Given the description of an element on the screen output the (x, y) to click on. 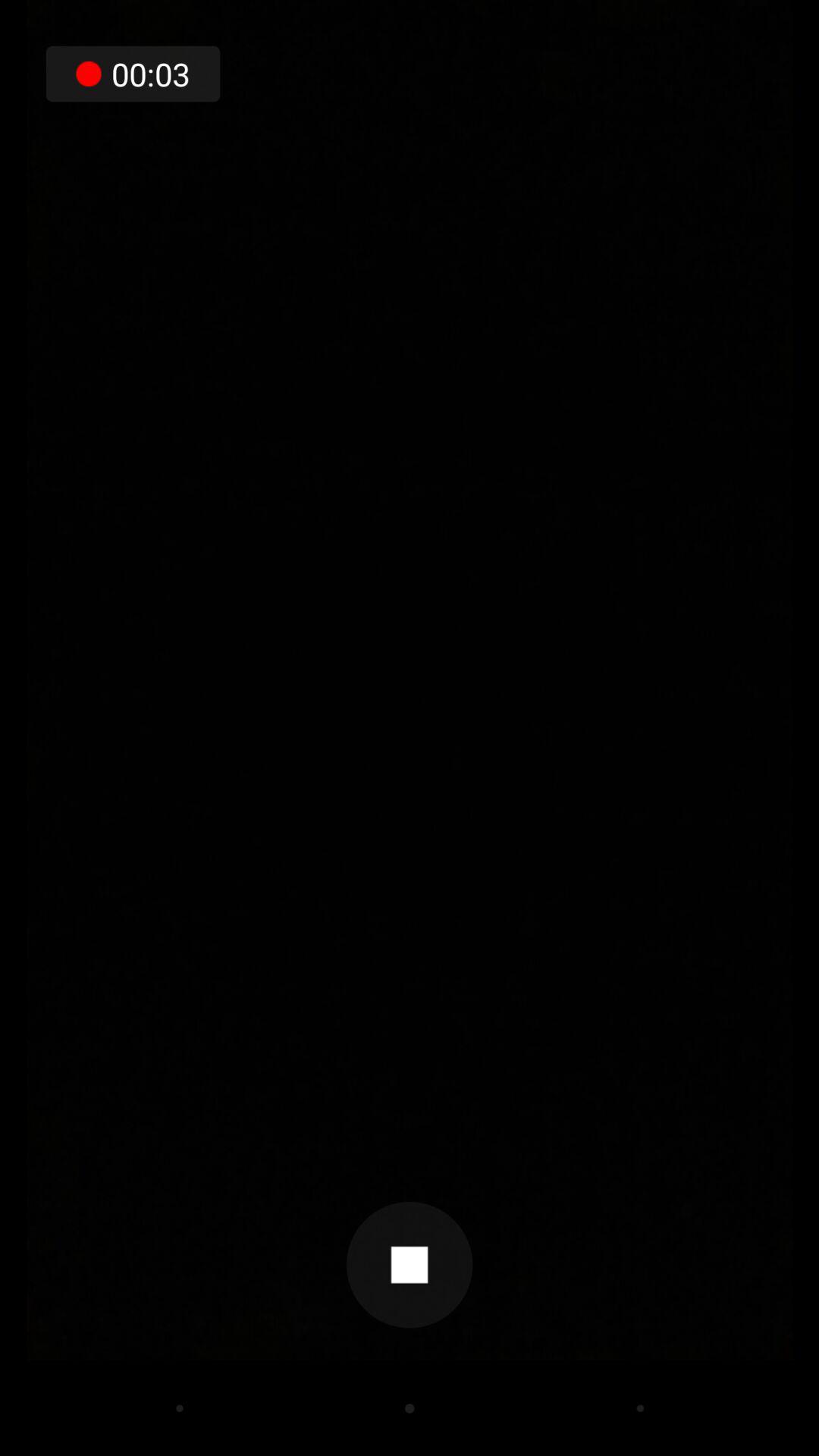
choose icon below 00:03 app (409, 1264)
